Given the description of an element on the screen output the (x, y) to click on. 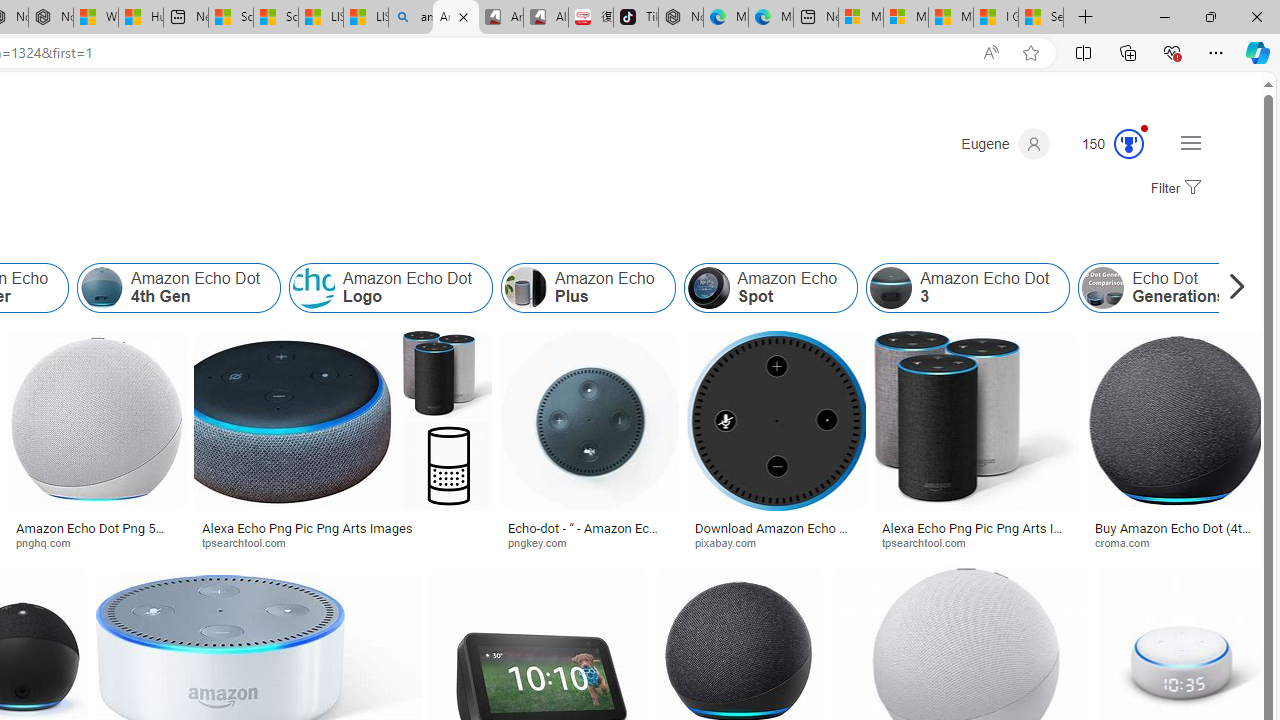
Image result for Amazon Echo Dot PNG (1175, 421)
Filter (1173, 189)
Alexa Echo Png Pic Png Arts Images (976, 534)
Amazon Echo Dot 3 (891, 287)
Amazon Echo Spot (770, 287)
tpsearchtool.com (976, 542)
Amazon Echo Dot 3 (968, 287)
pnghq.com (96, 542)
Alexa Echo Png Pic Png Arts Images (342, 528)
Eugene (1005, 143)
Echo Dot Generations (1162, 287)
